Given the description of an element on the screen output the (x, y) to click on. 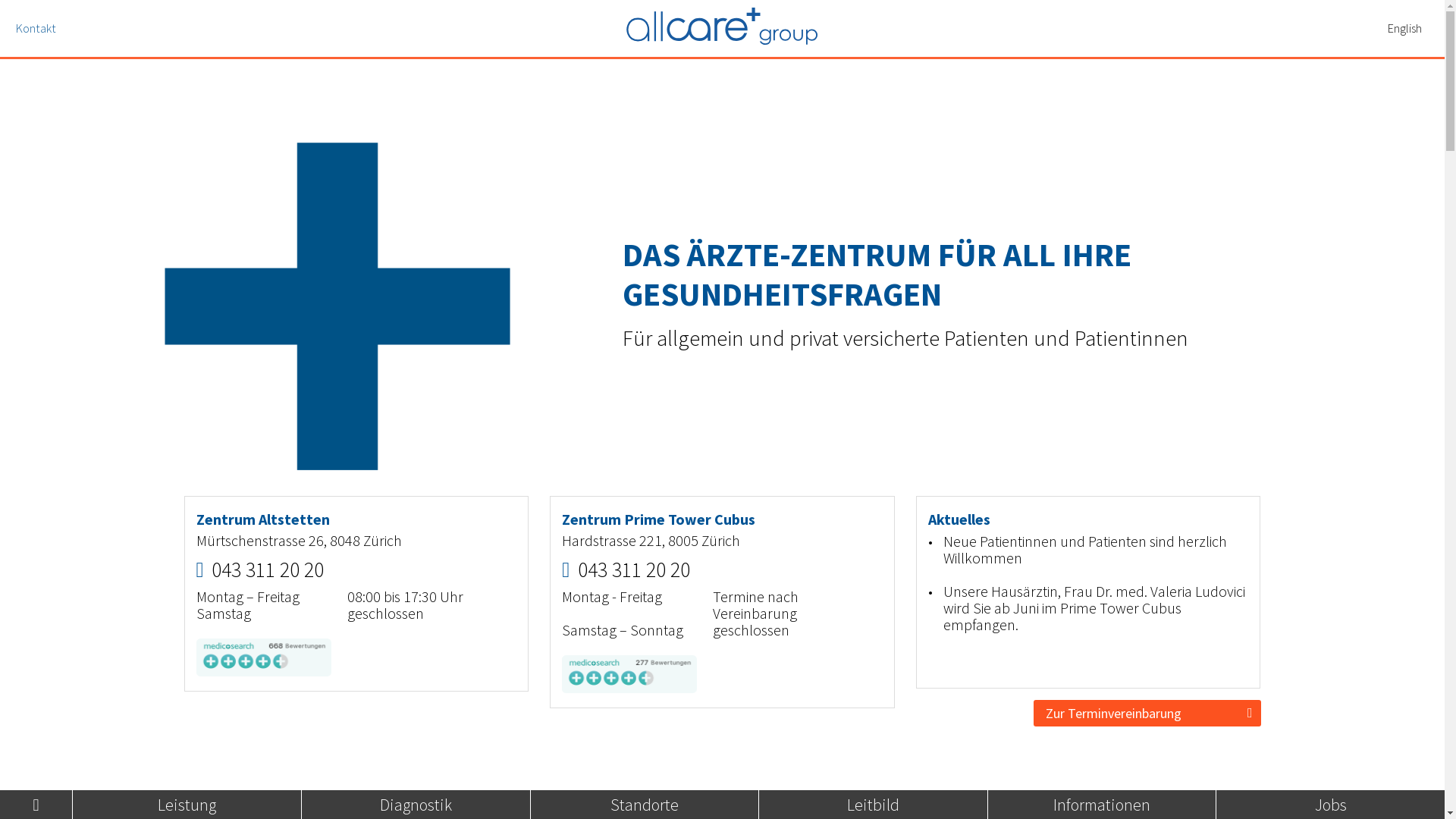
Leitbild Element type: text (873, 804)
Standorte Element type: text (644, 804)
Diagnostik Element type: text (415, 804)
English Element type: text (1404, 27)
Zentrum Altstetten Element type: text (262, 518)
043 311 20 20 Element type: text (633, 569)
043 311 20 20 Element type: text (267, 569)
Leistung Element type: text (186, 804)
Jobs Element type: text (1330, 804)
Zentrum Prime Tower Cubus Element type: text (658, 518)
Zur Terminvereinbarung Element type: text (1146, 712)
Informationen Element type: text (1101, 804)
